Given the description of an element on the screen output the (x, y) to click on. 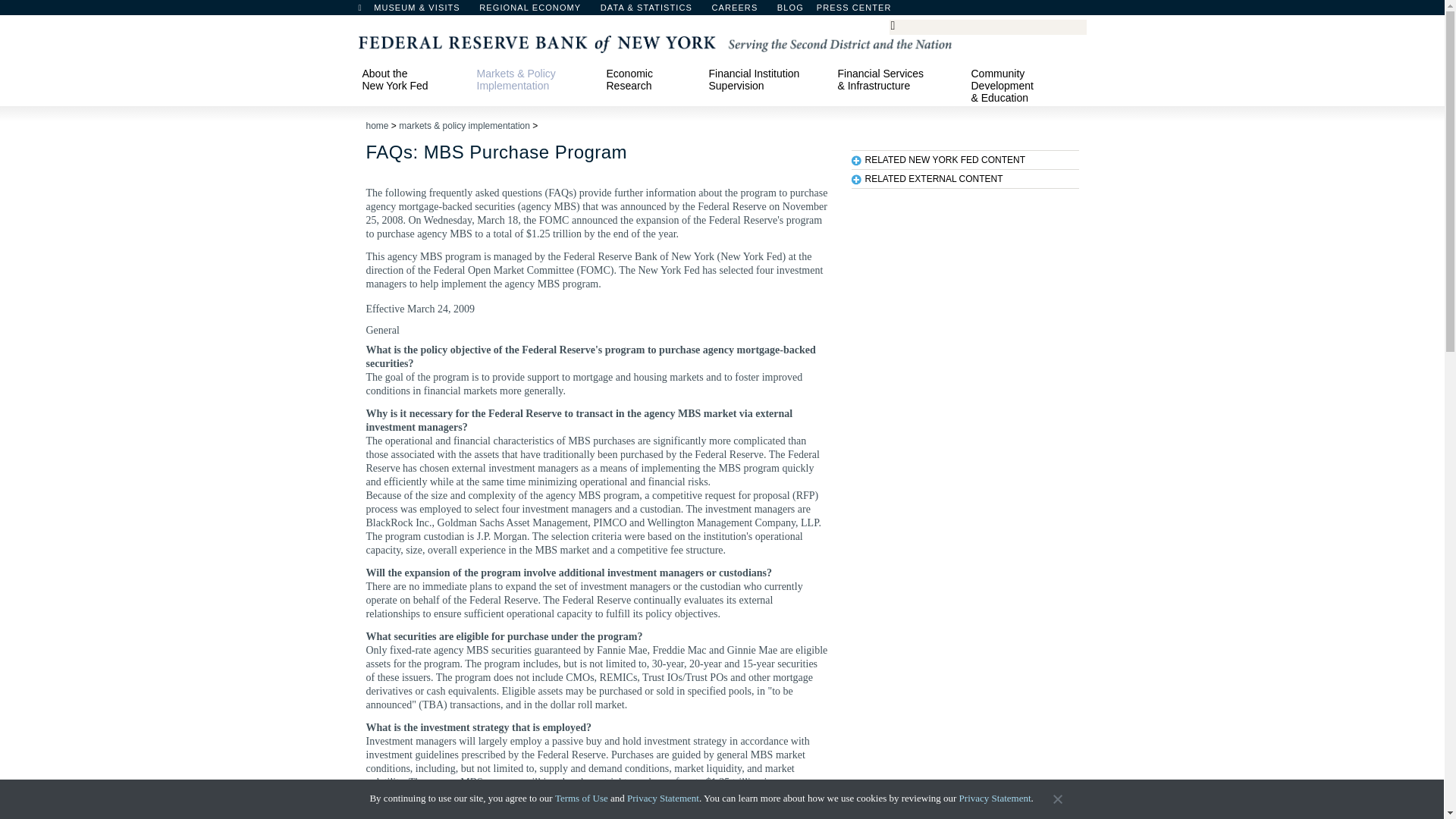
Careers (742, 11)
Home (367, 11)
BLOG (830, 11)
Search Form (987, 27)
Liberty Street Economics Blog (830, 11)
REGIONAL ECONOMY (537, 11)
Search Box (985, 26)
CAREERS (742, 11)
About the New York Fed (411, 79)
Regional Economy (537, 11)
